Given the description of an element on the screen output the (x, y) to click on. 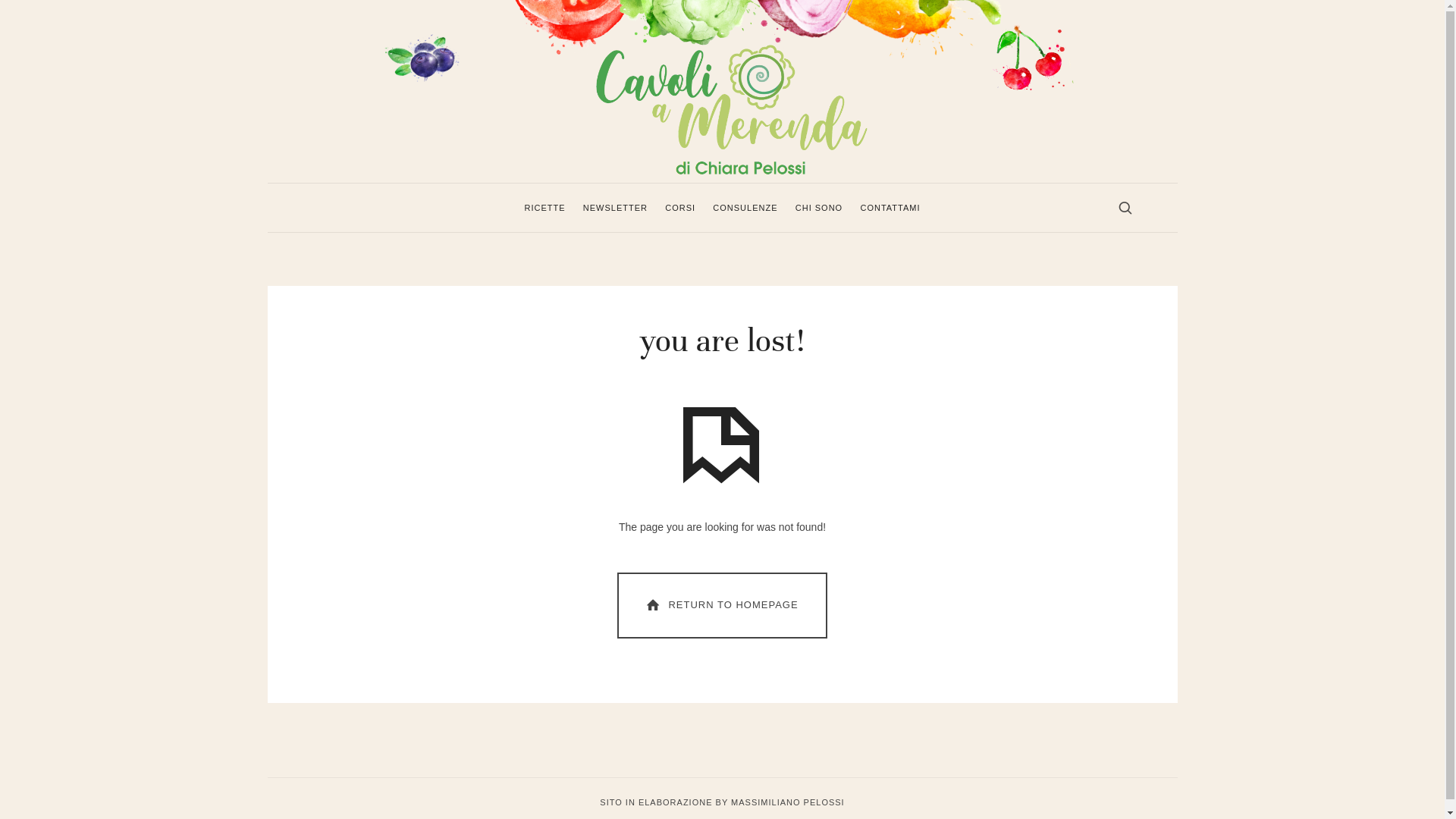
CHI SONO Element type: text (818, 207)
CONSULENZE Element type: text (744, 207)
RICETTE Element type: text (544, 207)
CORSI Element type: text (680, 207)
NEWSLETTER Element type: text (615, 207)
CONTATTAMI Element type: text (889, 207)
RETURN TO HOMEPAGE Element type: text (721, 605)
Cavoli a merenda Element type: text (721, 89)
